Given the description of an element on the screen output the (x, y) to click on. 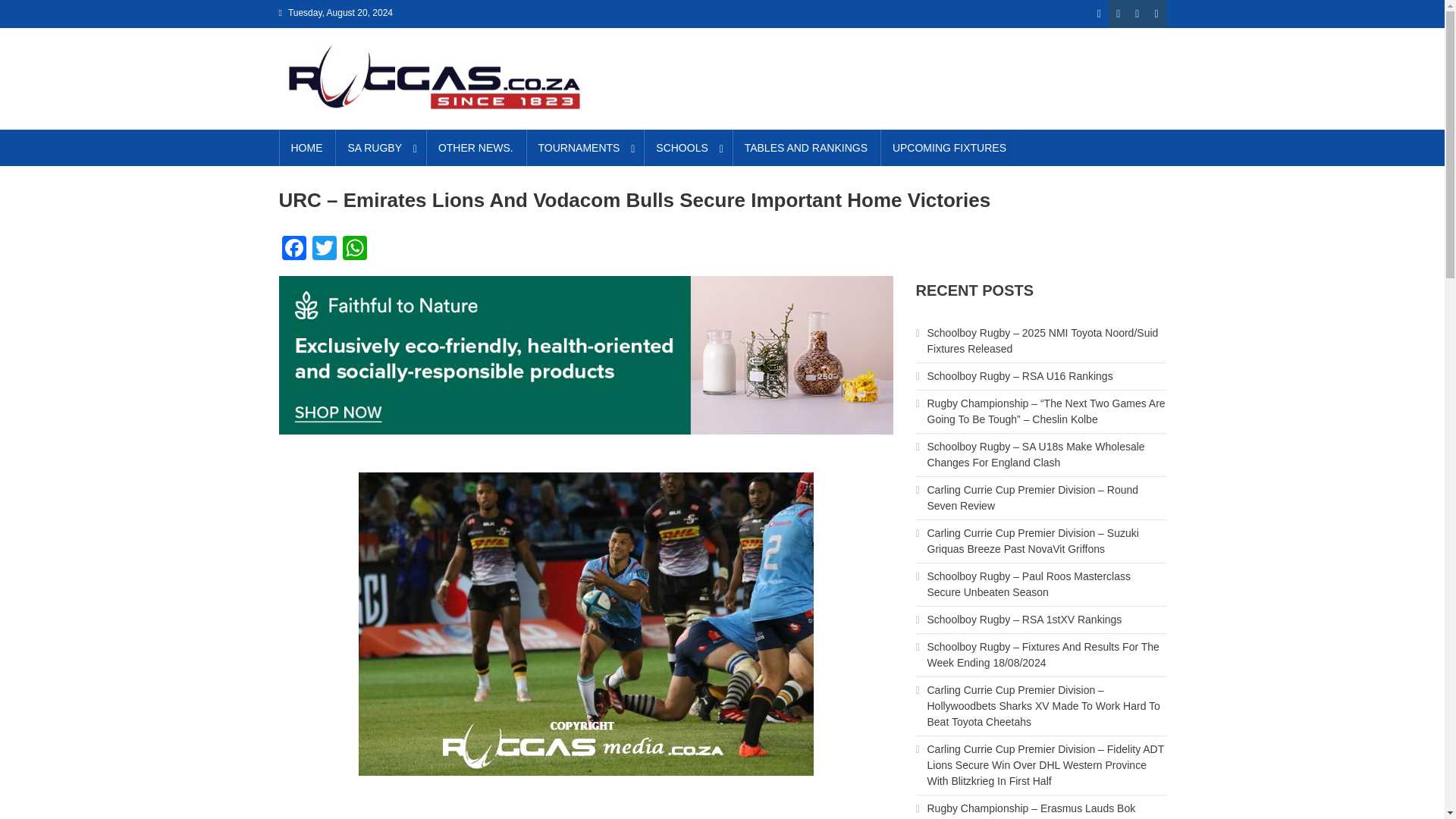
SA RUGBY (379, 147)
SCHOOLS (686, 147)
WhatsApp (354, 249)
TOURNAMENTS (584, 147)
UPCOMING FIXTURES (948, 147)
TABLES AND RANKINGS (805, 147)
Facebook (293, 249)
OTHER NEWS. (475, 147)
HOME (306, 147)
Facebook (293, 249)
